Given the description of an element on the screen output the (x, y) to click on. 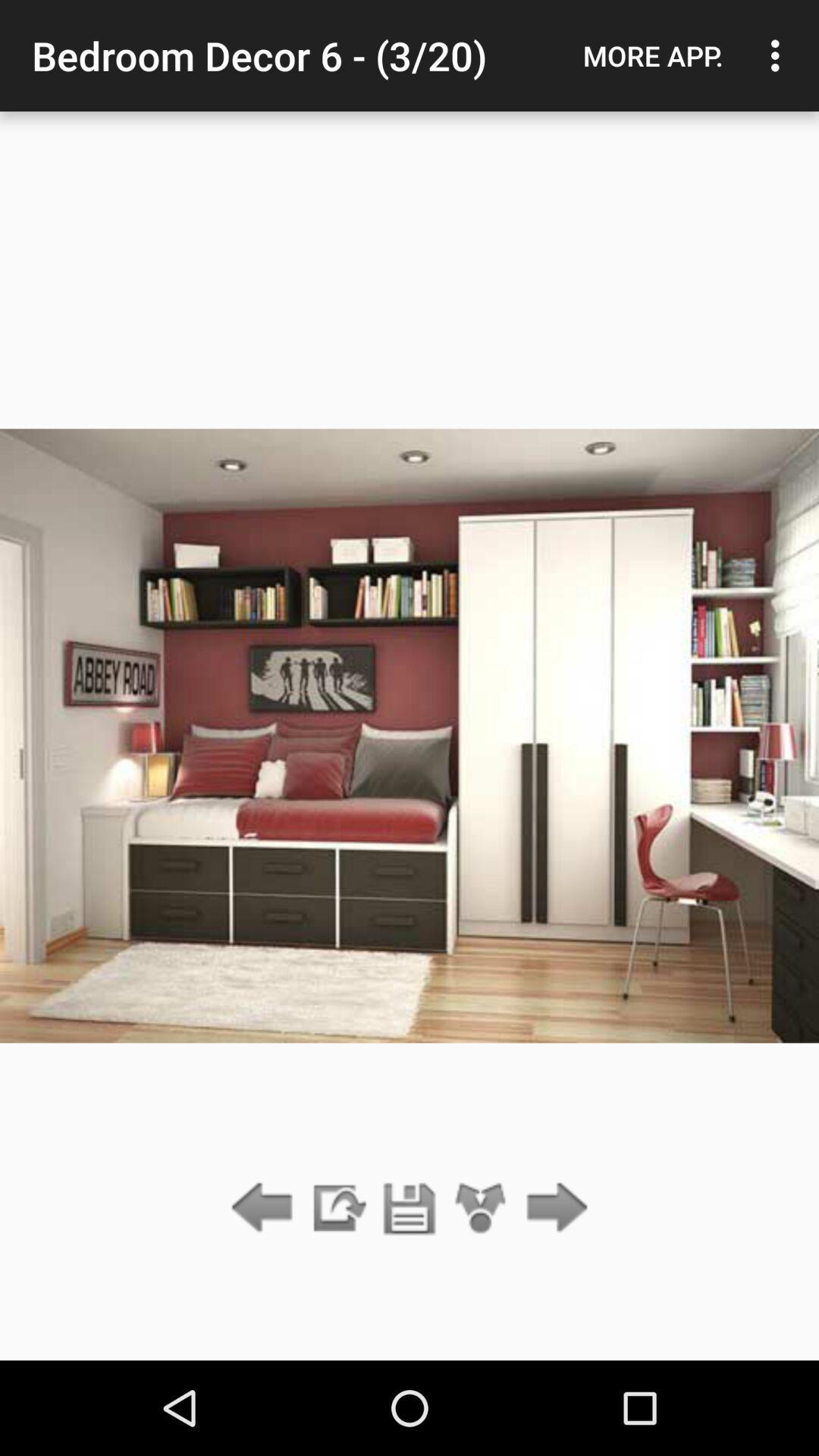
jump to the more app. item (653, 55)
